Given the description of an element on the screen output the (x, y) to click on. 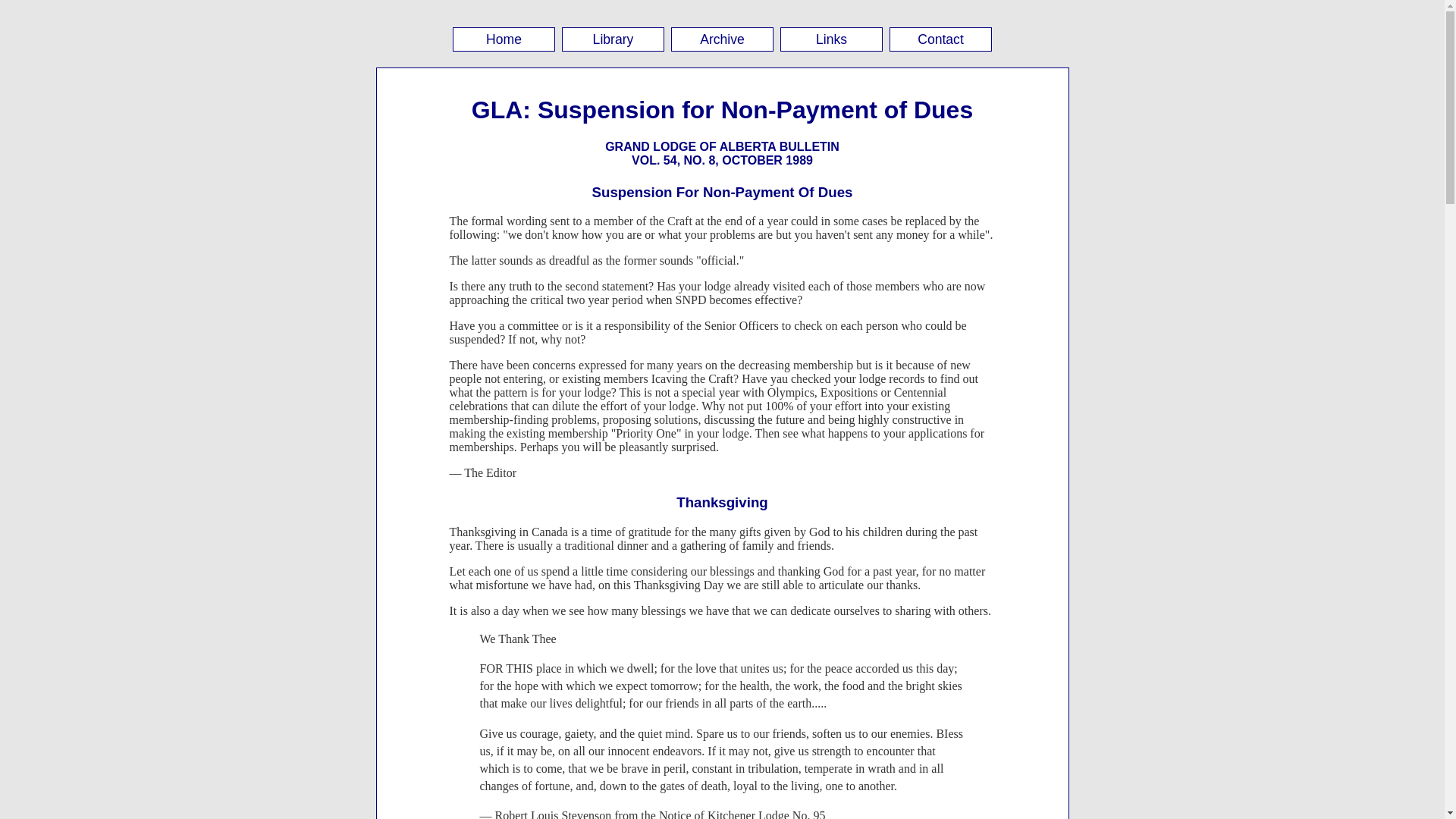
Home (503, 39)
Archive (722, 39)
Contact (940, 39)
Library (612, 39)
Links (831, 39)
